Given the description of an element on the screen output the (x, y) to click on. 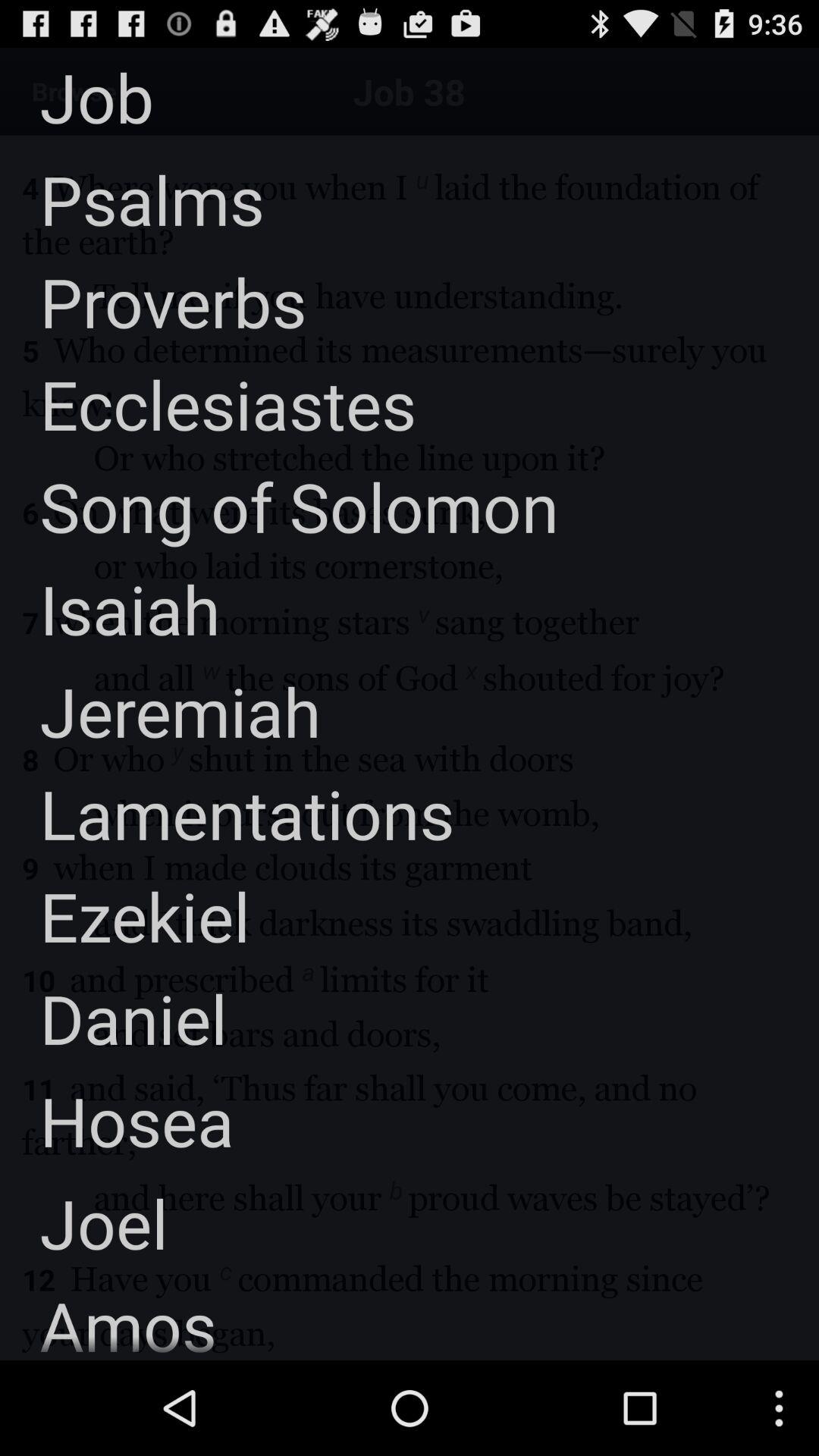
tap ezekiel item (125, 915)
